Given the description of an element on the screen output the (x, y) to click on. 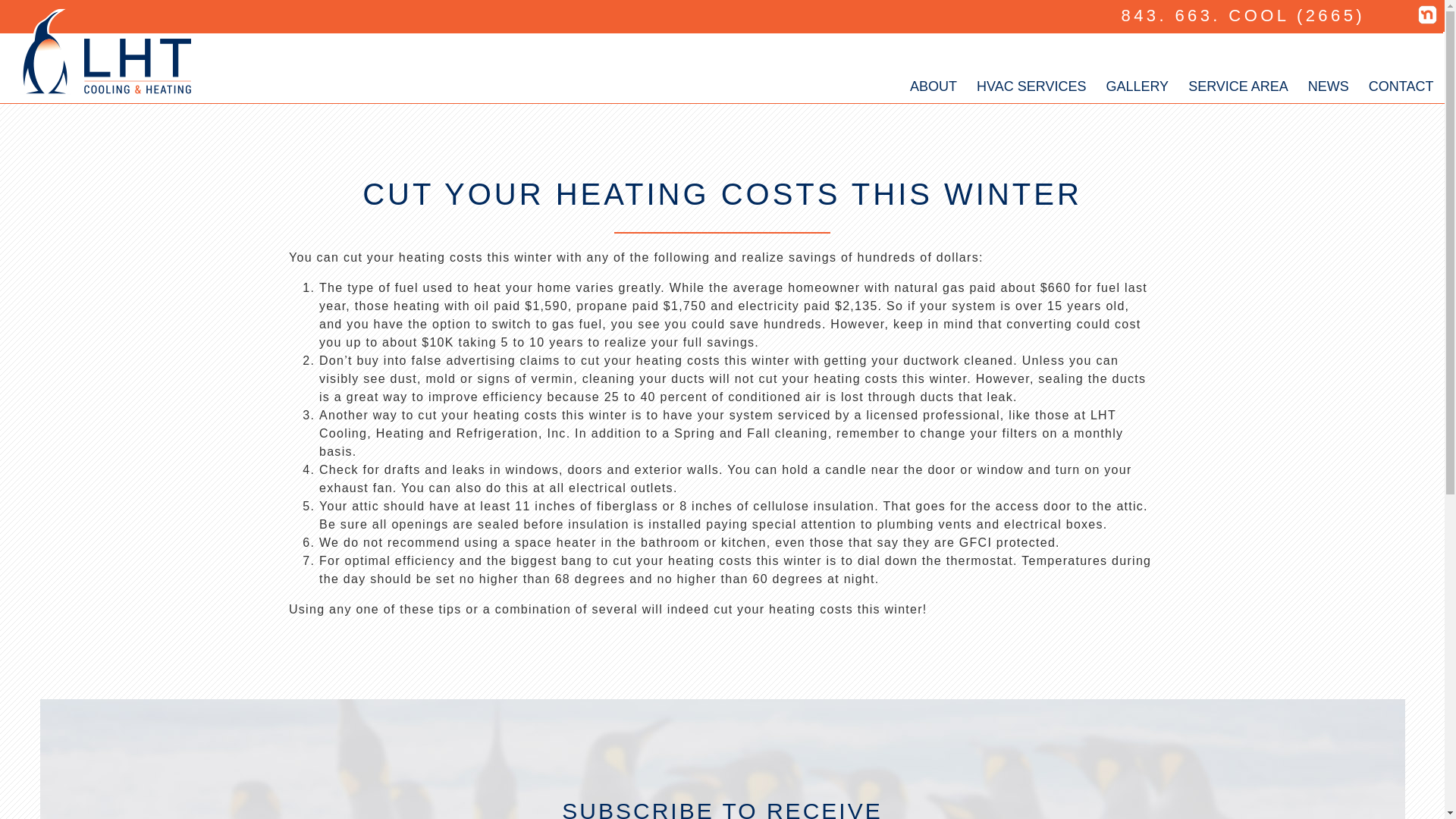
GALLERY (1136, 83)
ABOUT (932, 83)
NEWS (1328, 83)
HVAC SERVICES (1031, 83)
CONTACT (1401, 83)
SERVICE AREA (1237, 83)
